Given the description of an element on the screen output the (x, y) to click on. 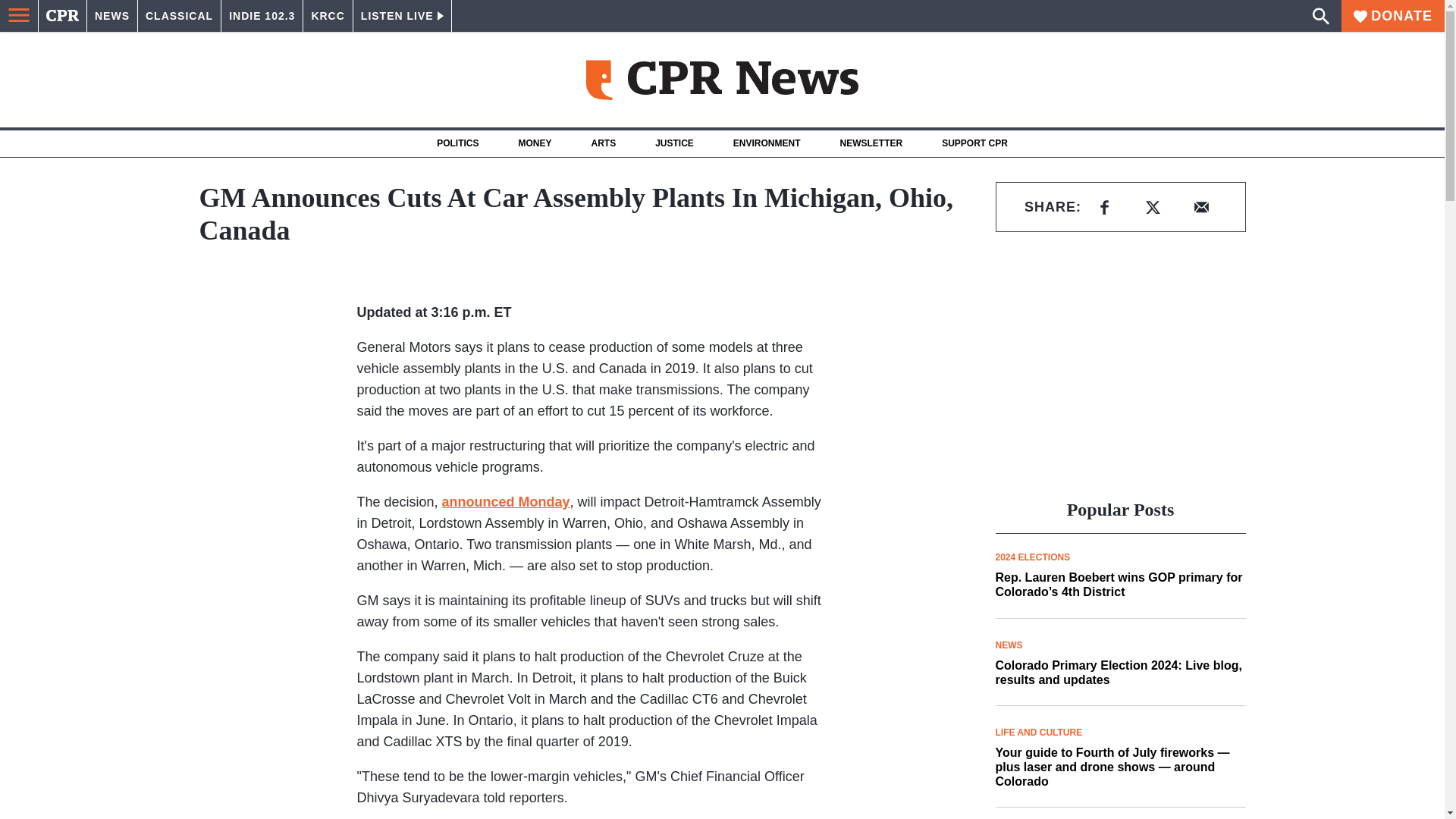
INDIE 102.3 (261, 15)
KRCC (327, 15)
CLASSICAL (179, 15)
NEWS (111, 15)
LISTEN LIVE (402, 15)
